Given the description of an element on the screen output the (x, y) to click on. 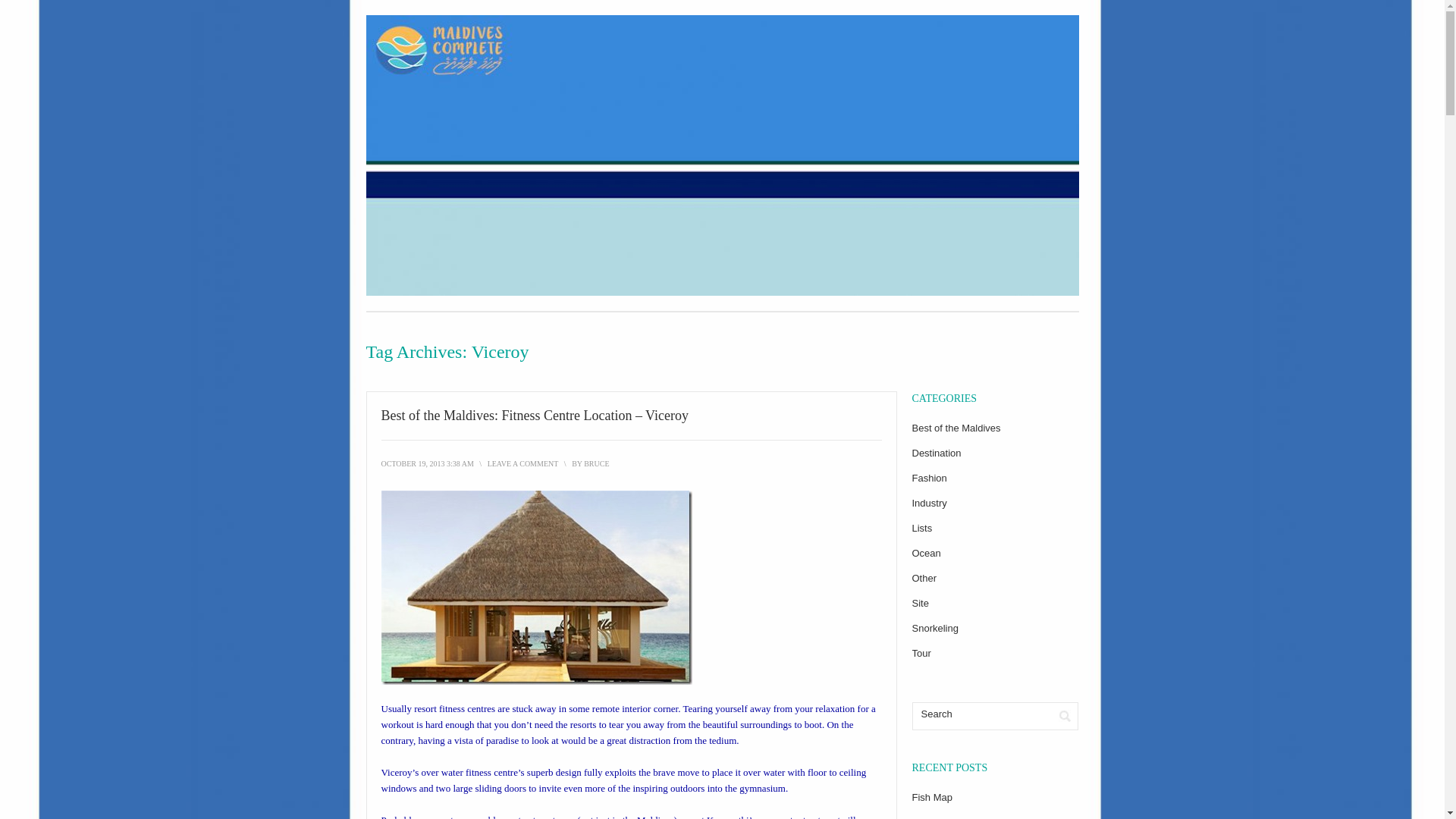
Other (923, 577)
Lists (921, 527)
Snorkeling (934, 627)
Viceroy fitness centre (535, 587)
Fish Map (931, 797)
BRUCE (595, 463)
Tour (920, 653)
Industry (928, 502)
Destination (935, 452)
OCTOBER 19, 2013 3:38 AM (426, 463)
Search (1064, 715)
LEAVE A COMMENT (523, 463)
Ocean (925, 552)
Search (980, 713)
by bruce (595, 463)
